Given the description of an element on the screen output the (x, y) to click on. 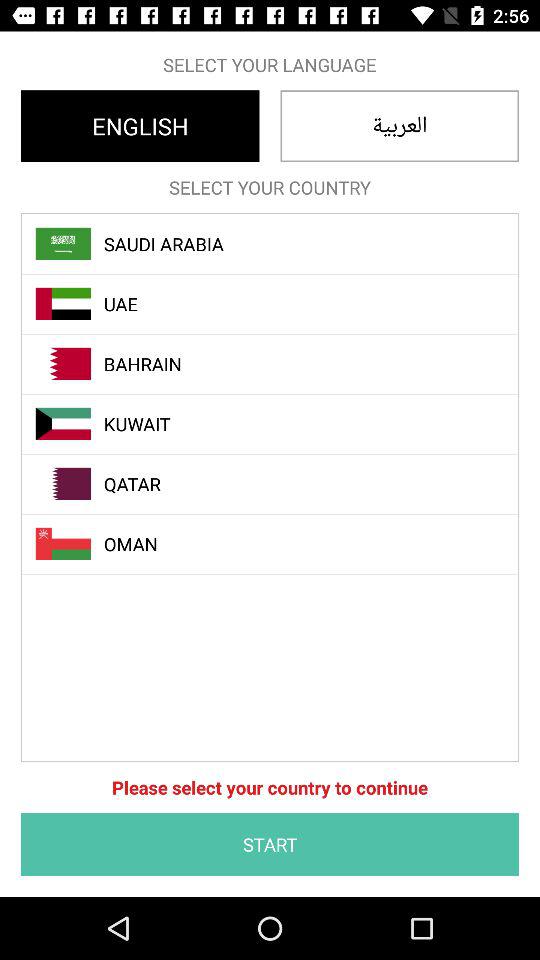
press the icon above the uae item (281, 243)
